Given the description of an element on the screen output the (x, y) to click on. 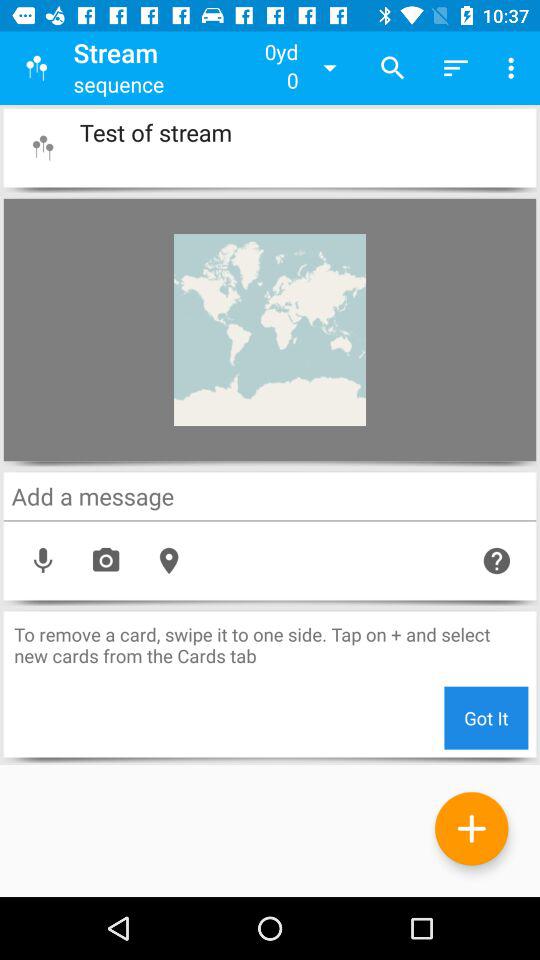
app logo (42, 147)
